Given the description of an element on the screen output the (x, y) to click on. 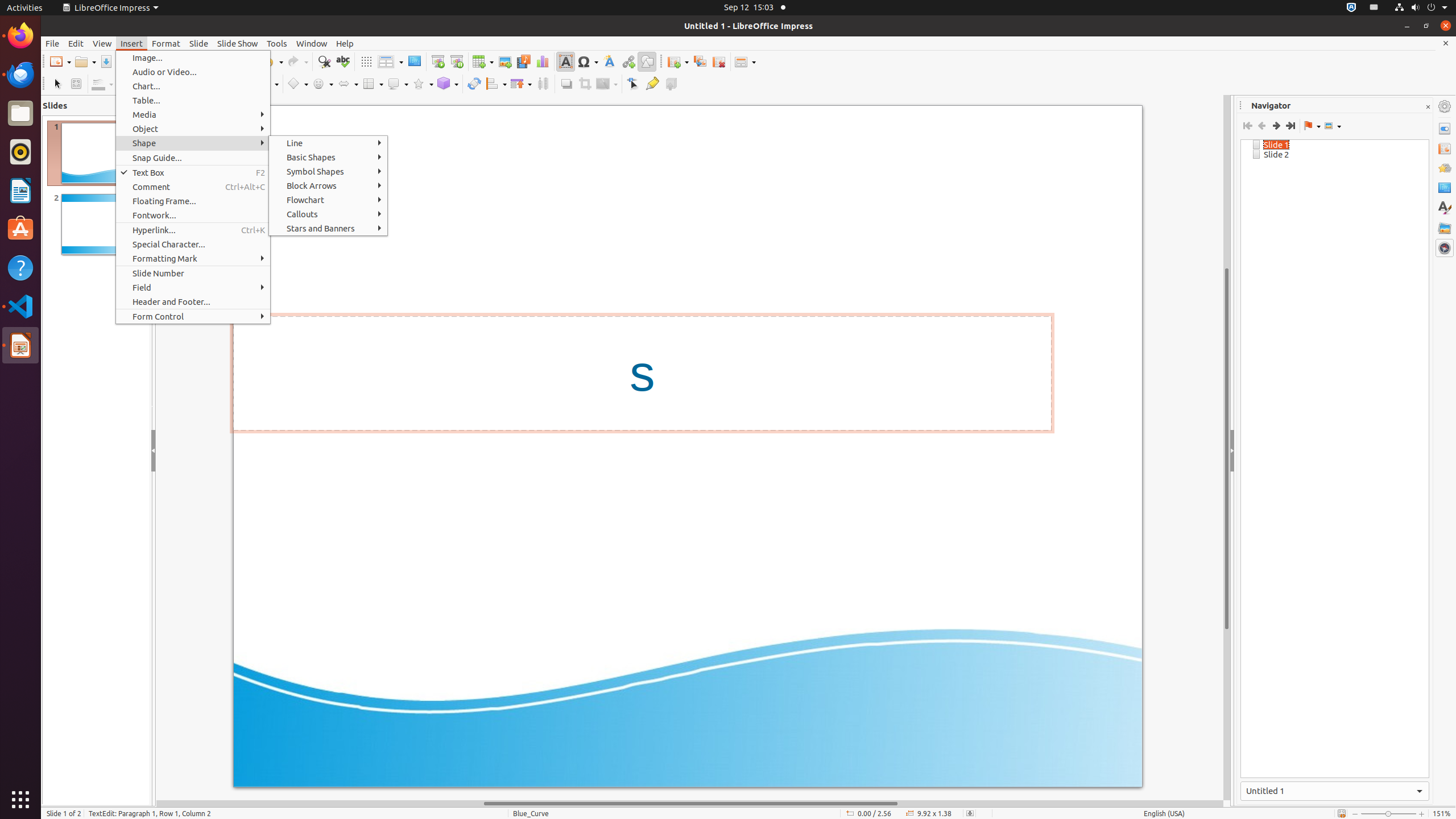
Rhythmbox Element type: push-button (20, 151)
Close Sidebar Deck Element type: push-button (1427, 106)
Image... Element type: menu-item (193, 57)
Next Slide Element type: push-button (1275, 125)
Show Shapes Element type: push-button (1332, 125)
